Given the description of an element on the screen output the (x, y) to click on. 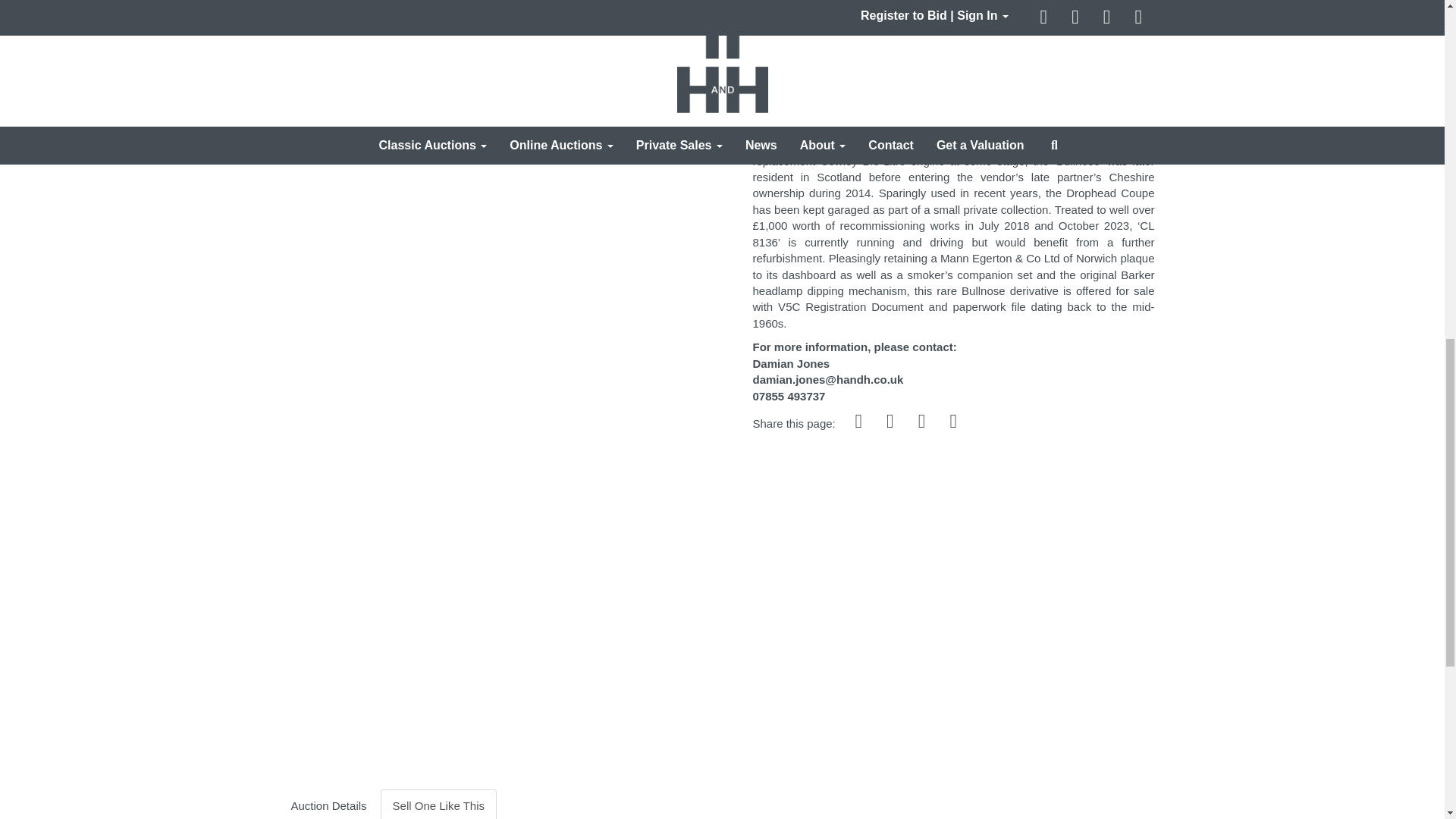
Tweet this page (892, 422)
Go to our instagram page (922, 422)
Share via email (954, 422)
Share on Facebook (860, 422)
